Given the description of an element on the screen output the (x, y) to click on. 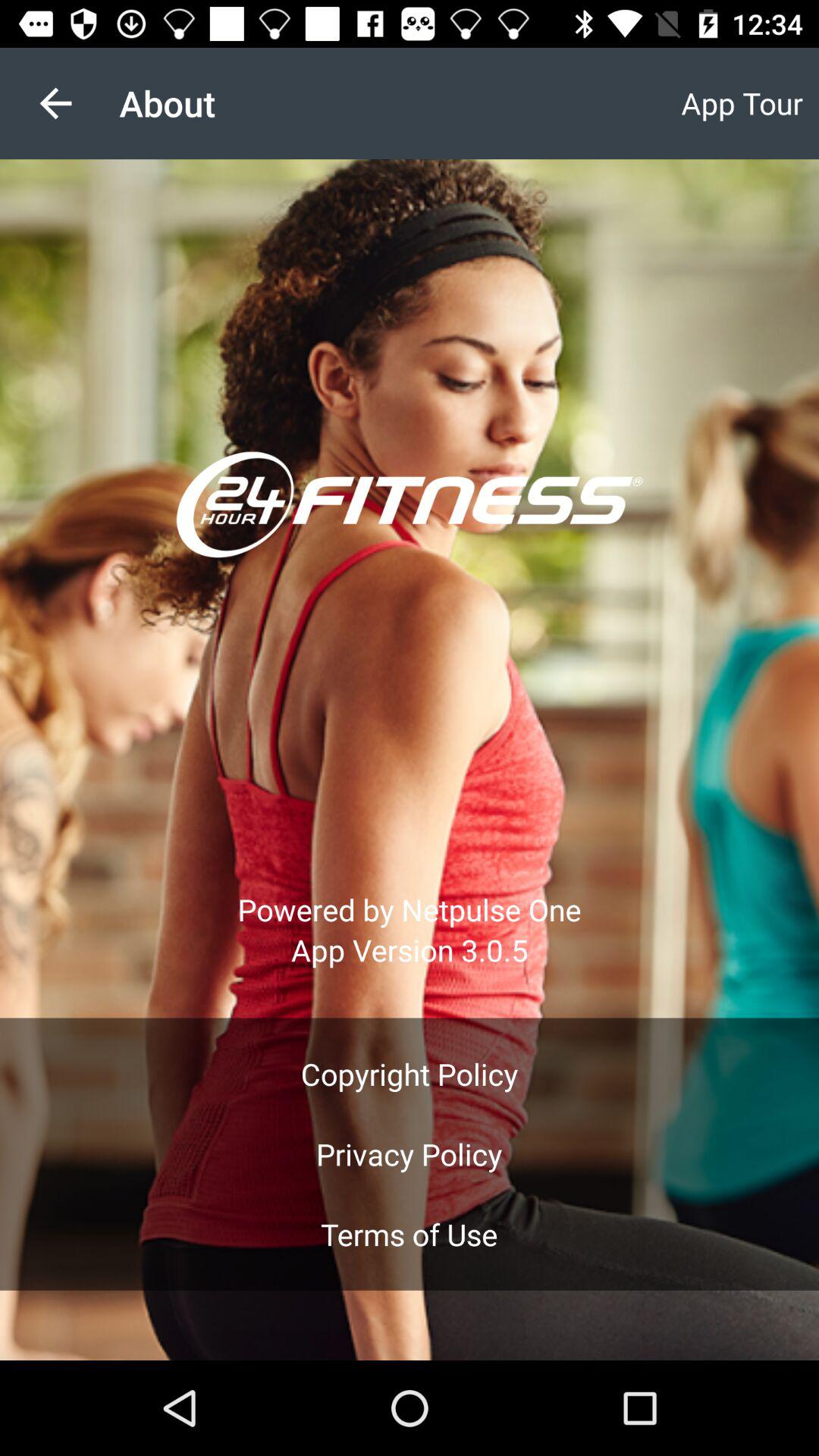
click the item above the powered by netpulse icon (55, 103)
